Given the description of an element on the screen output the (x, y) to click on. 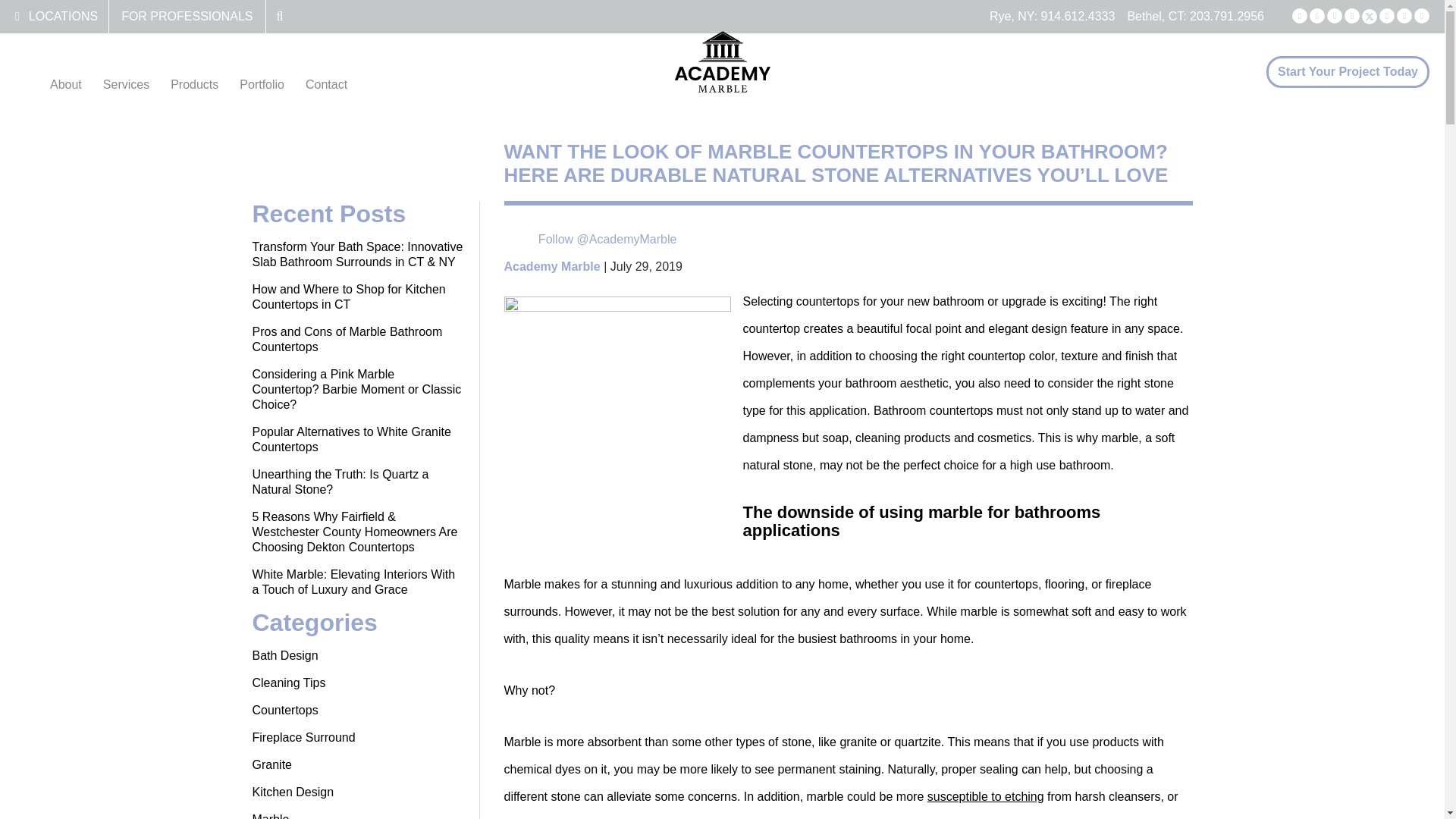
FOR PROFESSIONALS (185, 15)
203.791.2956 (1226, 15)
914.612.4333 (1078, 15)
LOCATIONS (63, 15)
